Given the description of an element on the screen output the (x, y) to click on. 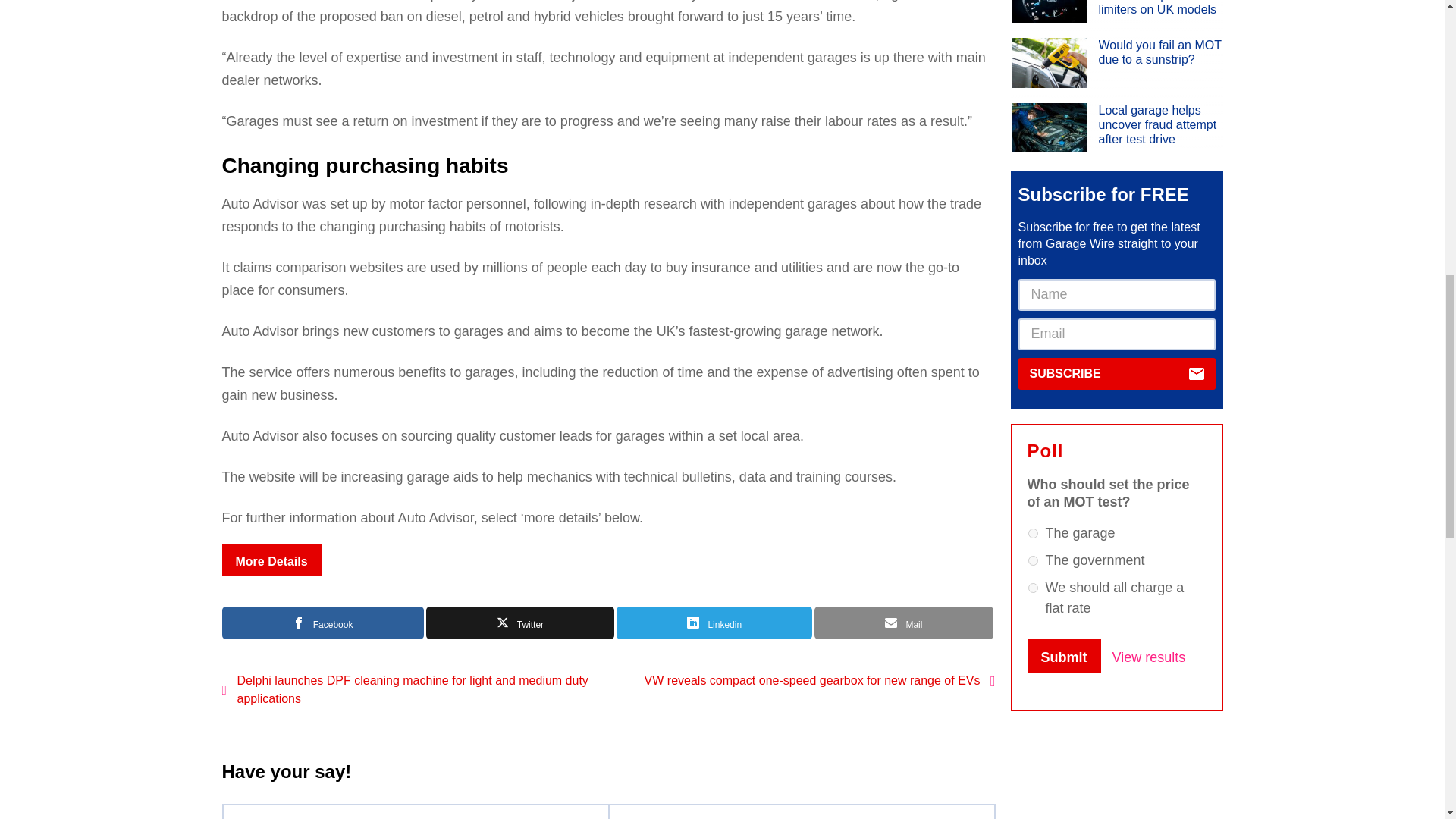
VW reveals compact one-speed gearbox for new range of EVs (805, 680)
Submit (1063, 655)
gpoll12c69b0ed (1032, 533)
gpoll1b700cb16 (1032, 560)
Facebook (322, 622)
More Details (270, 560)
gpoll1312102c8 (1032, 587)
